Given the description of an element on the screen output the (x, y) to click on. 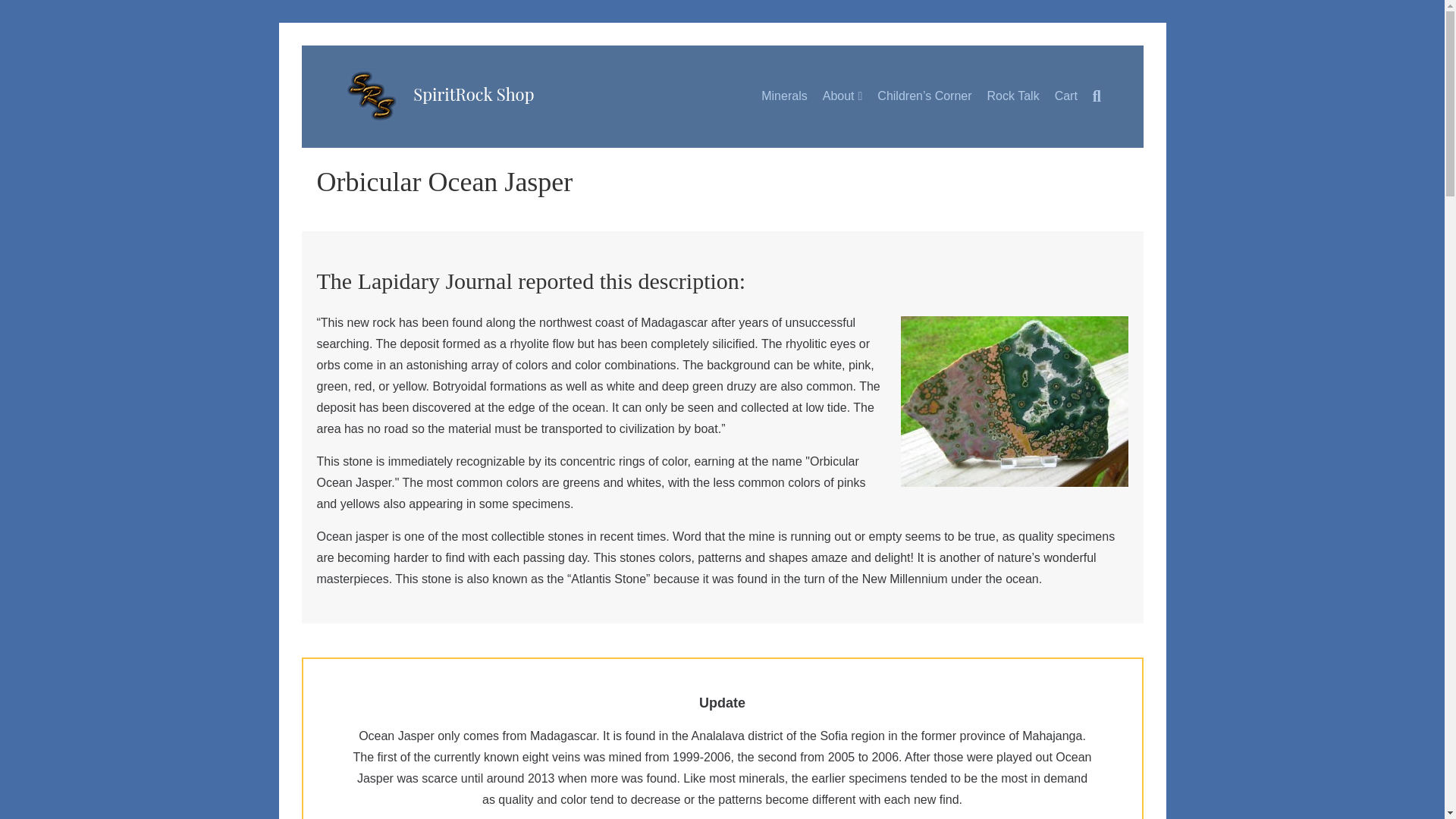
About (842, 96)
Minerals (783, 96)
Rock Talk (1012, 96)
Cart (1065, 96)
